Given the description of an element on the screen output the (x, y) to click on. 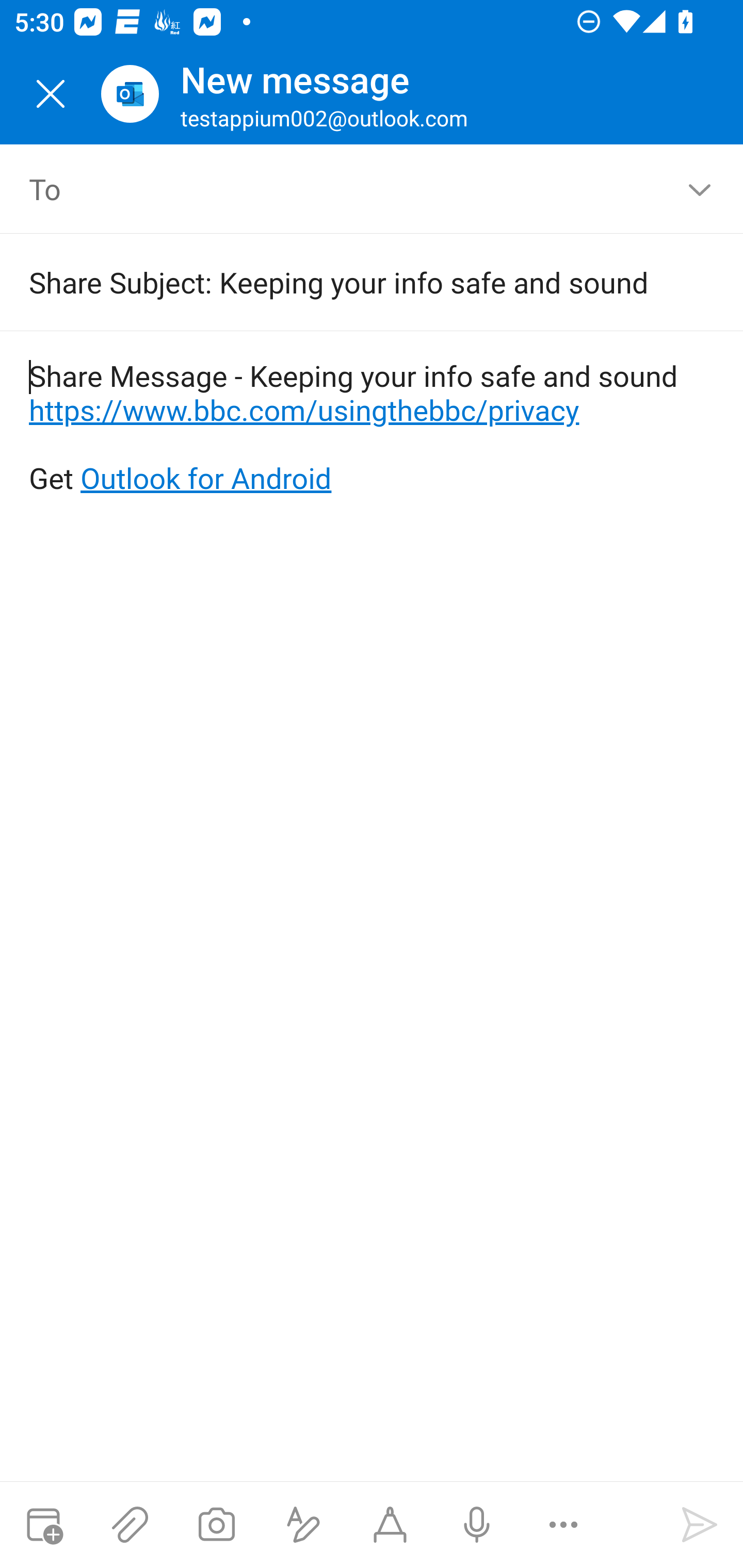
Close (50, 93)
Share Subject: Keeping your info safe and sound (342, 281)
Attach meeting (43, 1524)
Attach files (129, 1524)
Take a photo (216, 1524)
Show formatting options (303, 1524)
Start Ink compose (389, 1524)
Dictation (476, 1524)
More options (563, 1524)
Send (699, 1524)
